Given the description of an element on the screen output the (x, y) to click on. 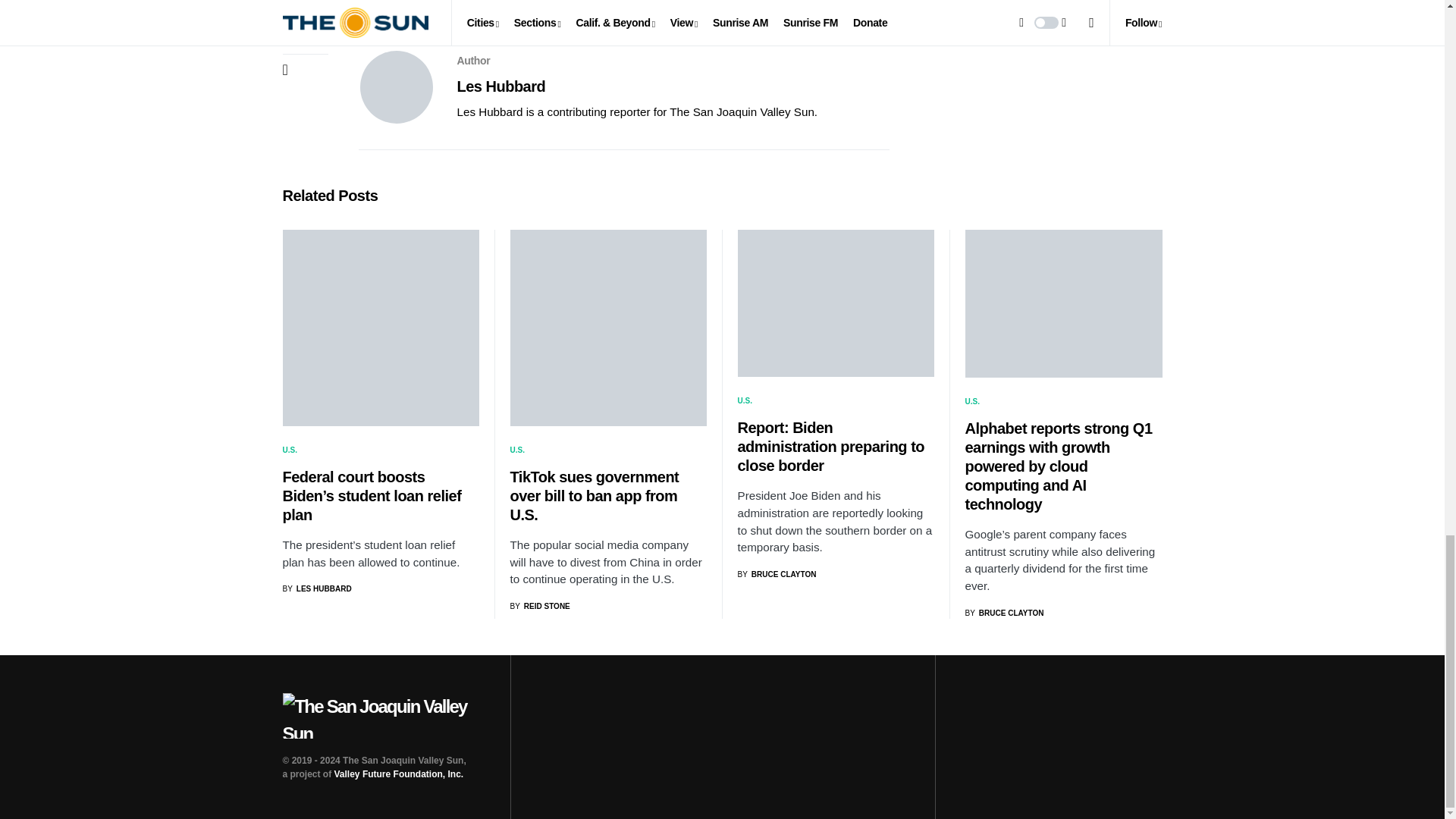
View all posts by Reid Stone (539, 605)
View all posts by Bruce Clayton (1003, 613)
View all posts by Bruce Clayton (775, 573)
View all posts by Les Hubbard (316, 588)
